Given the description of an element on the screen output the (x, y) to click on. 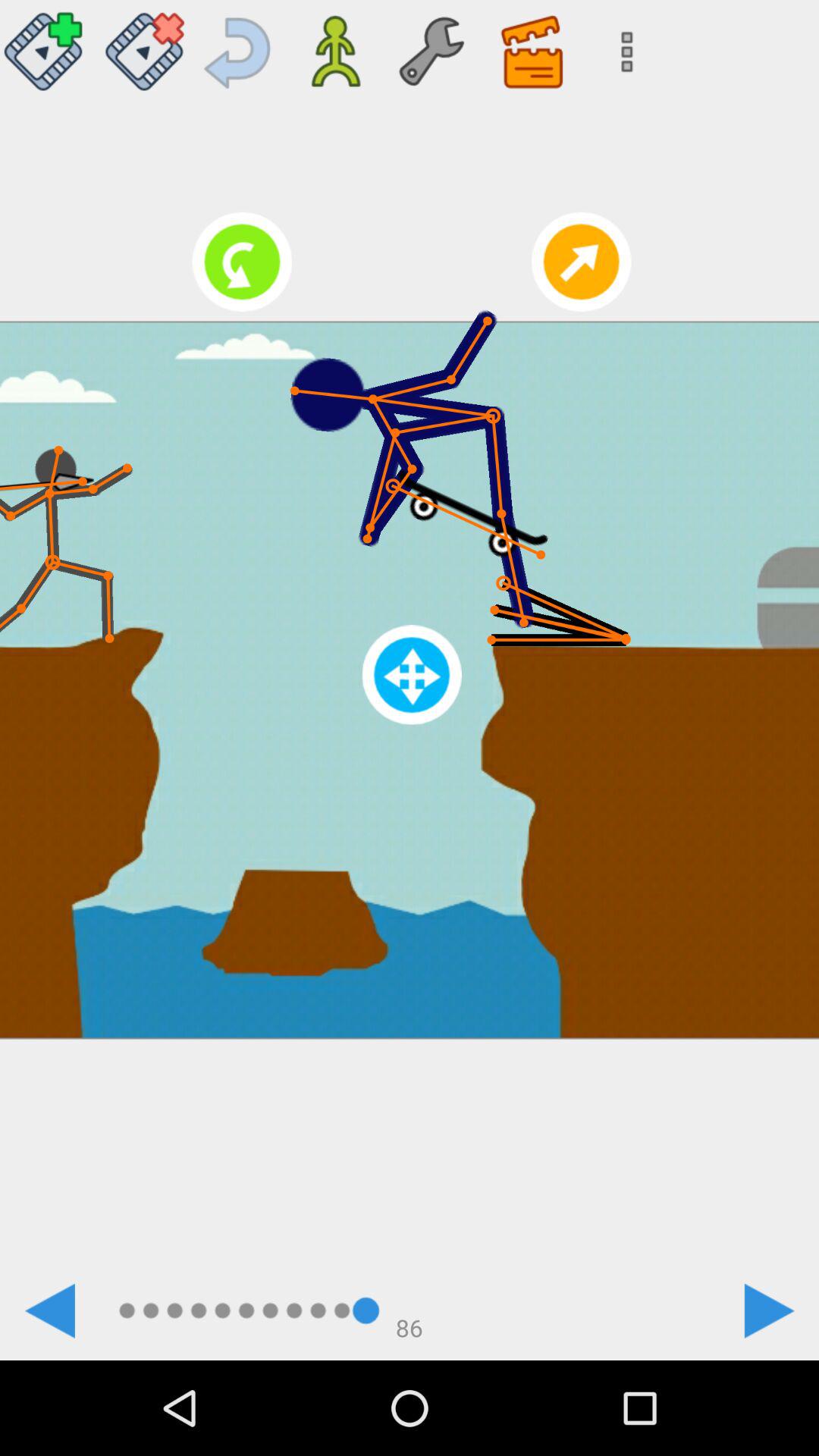
goes to the next frame (769, 1310)
